Given the description of an element on the screen output the (x, y) to click on. 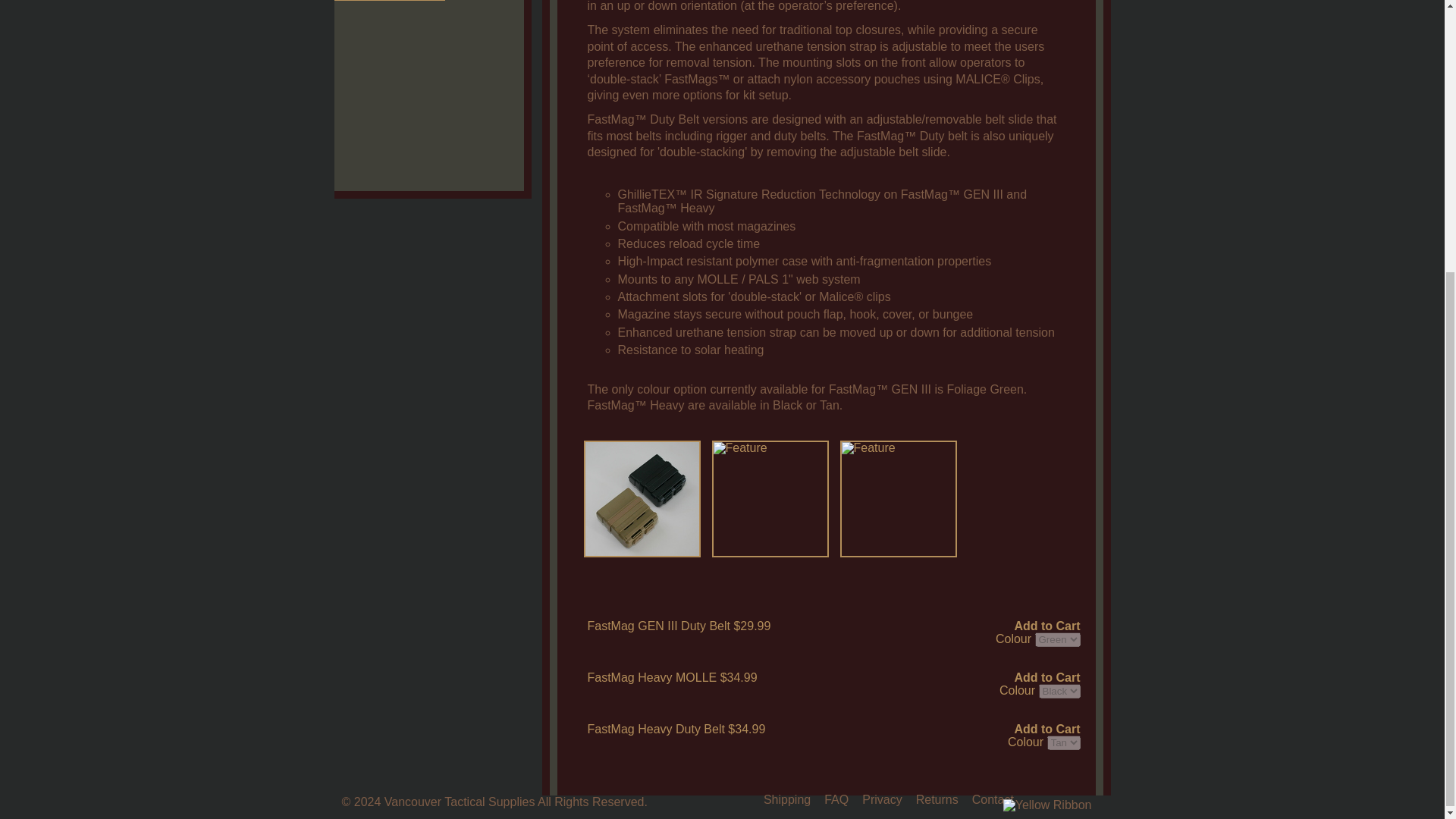
Contact (992, 799)
Add to Cart (1046, 677)
Add to Cart (1046, 625)
FAQ (836, 799)
Returns (936, 799)
Shipping (786, 799)
Add to Cart (1046, 729)
Privacy (881, 799)
